Given the description of an element on the screen output the (x, y) to click on. 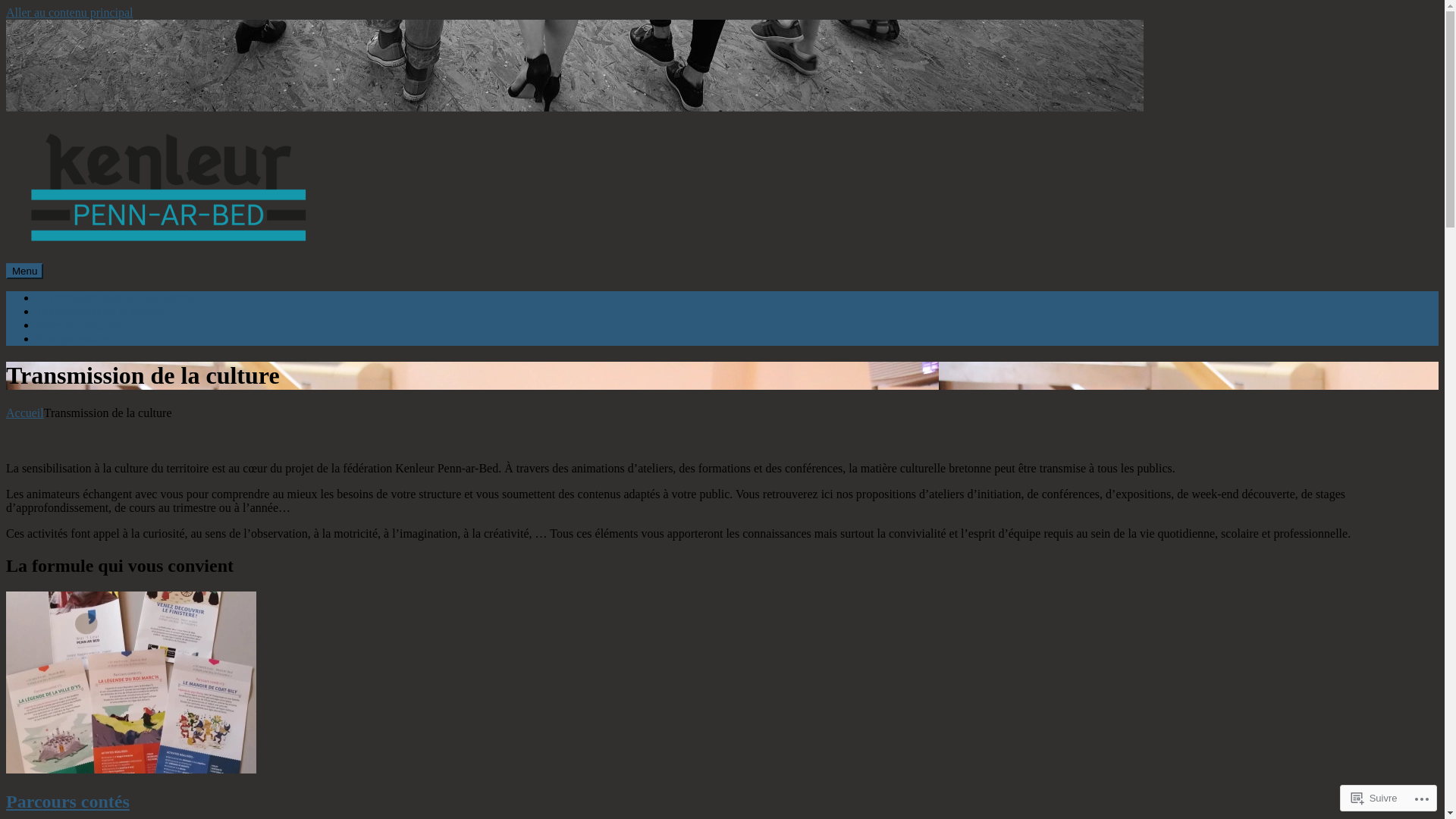
Menu Element type: text (24, 271)
Aller au contenu principal Element type: text (69, 12)
Accueil Element type: text (24, 412)
Transmission de la culture Element type: text (100, 310)
Suivre Element type: text (1374, 797)
Kenleur-Penn-ar-Bed Element type: text (57, 281)
Nos partenaires Element type: text (74, 338)
